Given the description of an element on the screen output the (x, y) to click on. 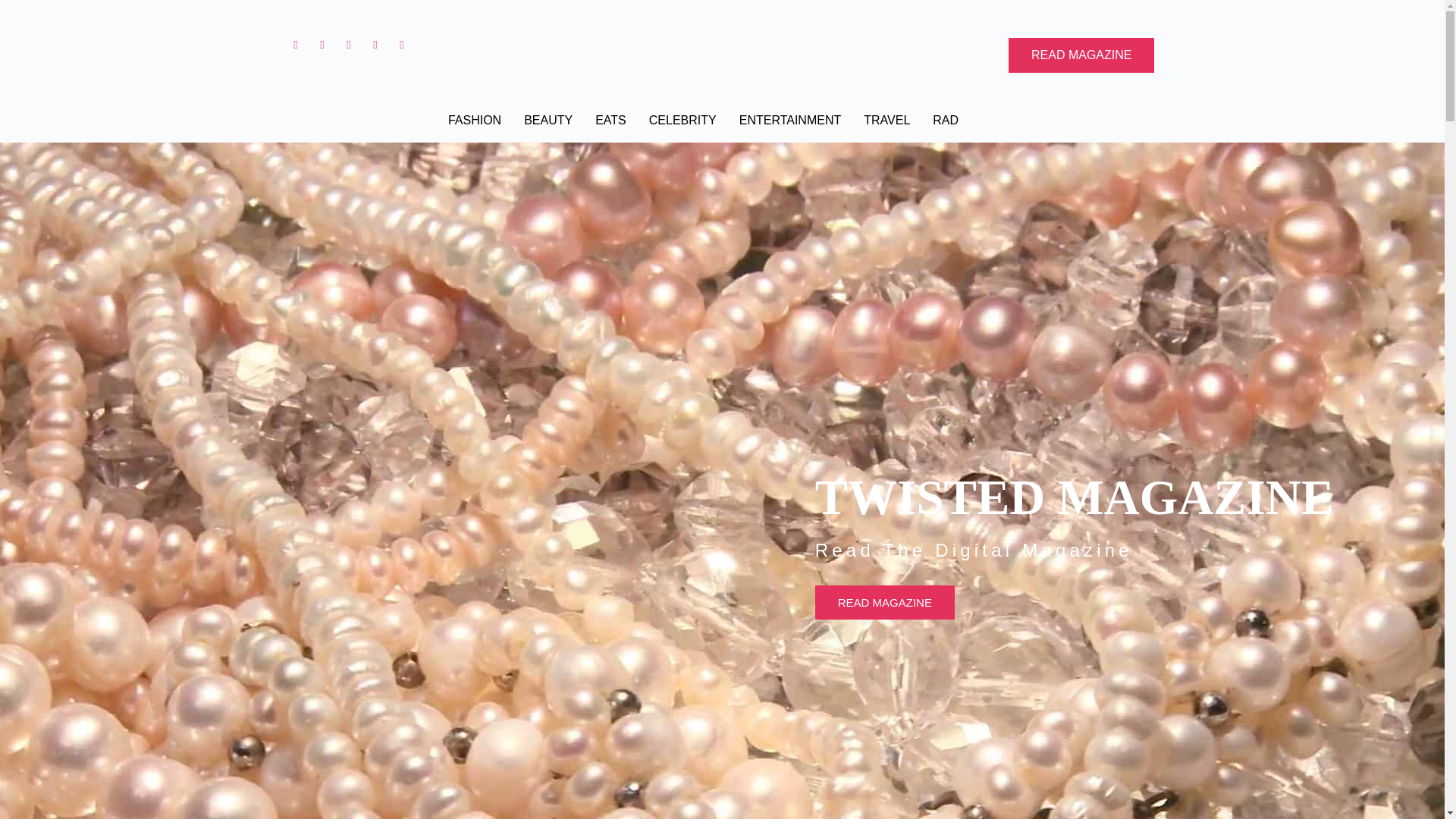
ENTERTAINMENT (790, 120)
BEAUTY (548, 120)
FASHION (474, 120)
READ MAGAZINE (1081, 54)
CELEBRITY (682, 120)
TRAVEL (886, 120)
EATS (610, 120)
RAD (945, 120)
